Given the description of an element on the screen output the (x, y) to click on. 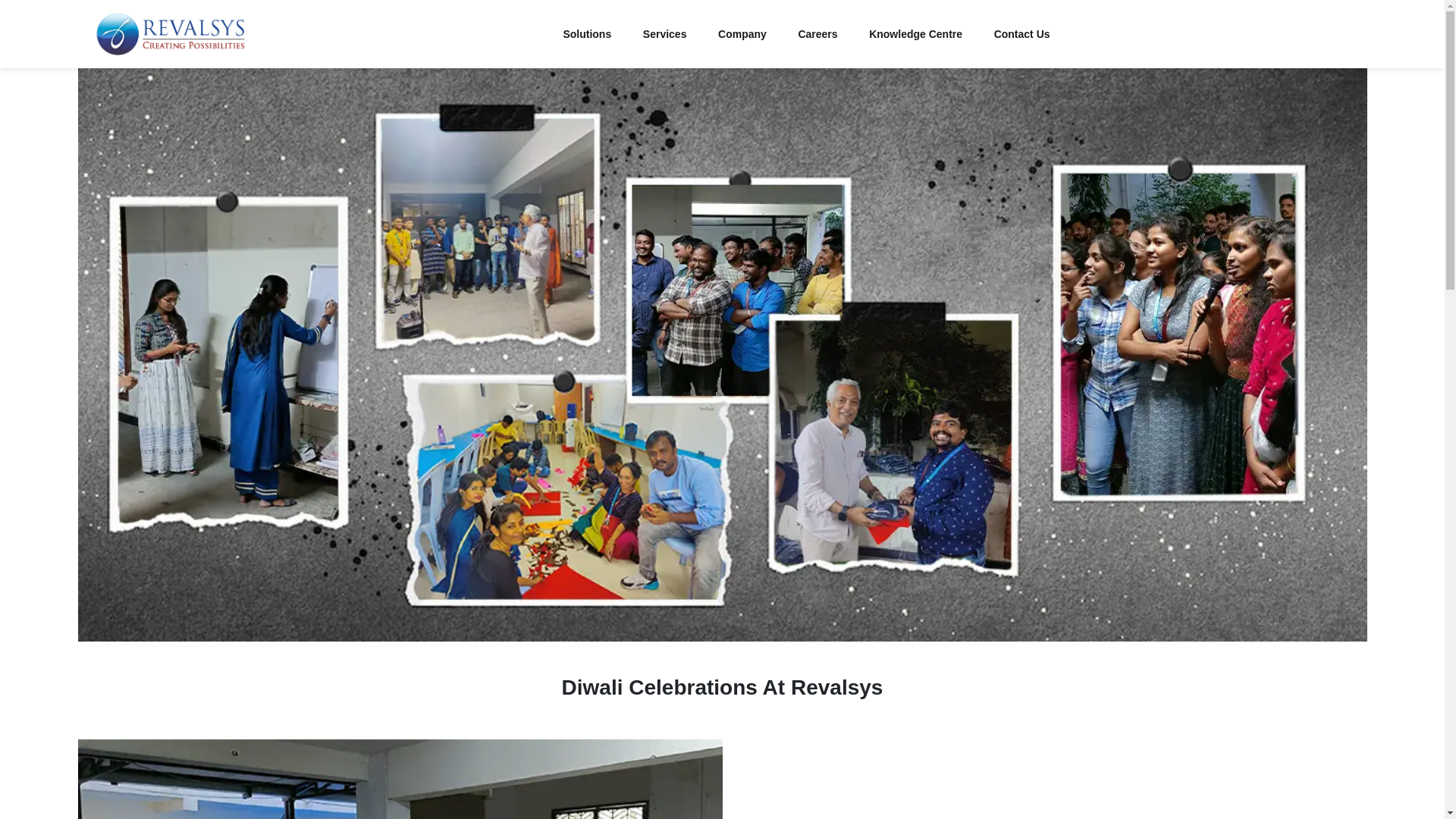
Knowledge Centre (915, 33)
Revalsys logo (169, 33)
Contact Us (1022, 33)
Services (665, 33)
Company (742, 33)
Careers (817, 33)
Solutions (586, 33)
